Given the description of an element on the screen output the (x, y) to click on. 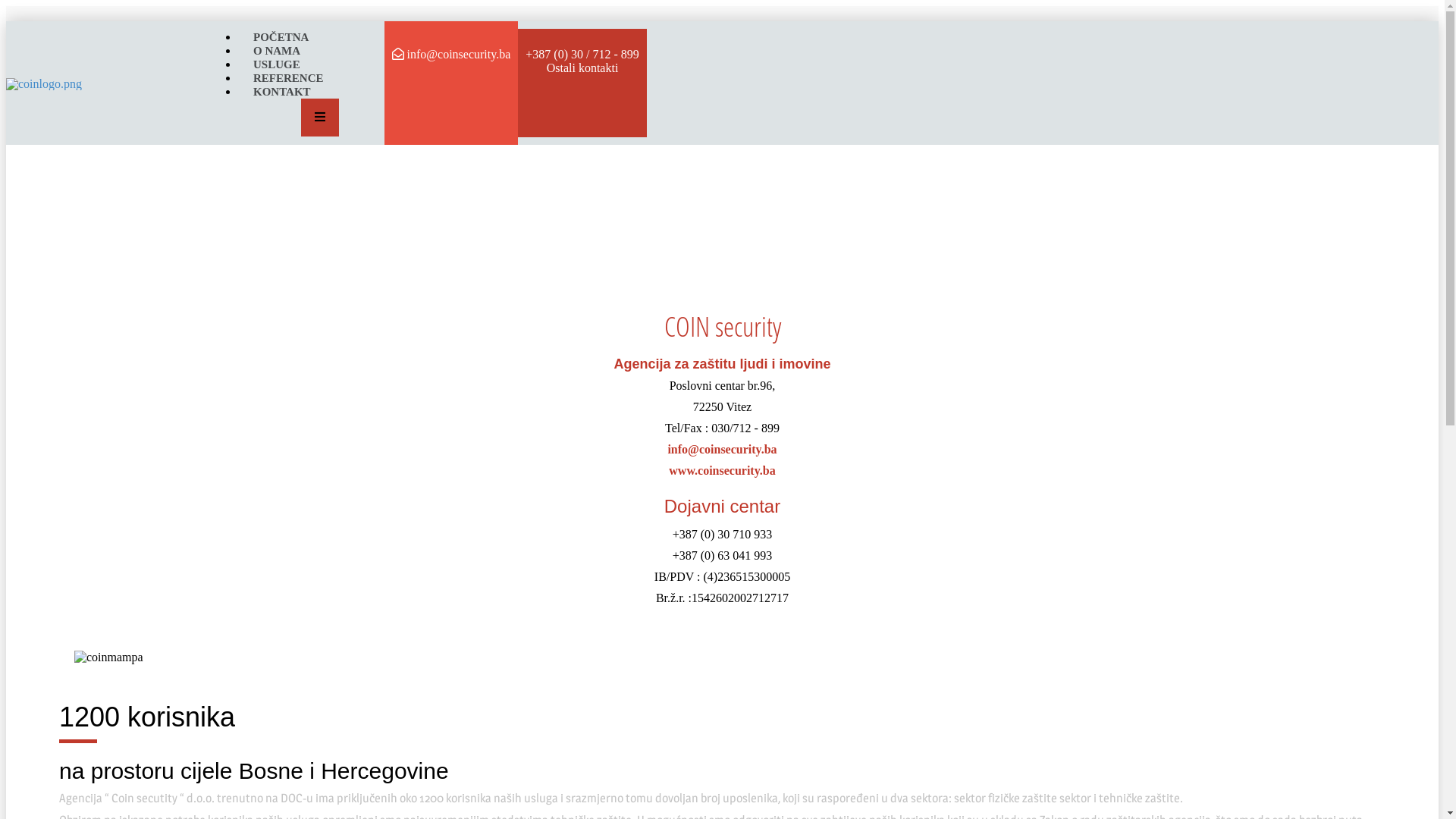
O NAMA Element type: text (276, 49)
REFERENCE Element type: text (288, 77)
USLUGE Element type: text (276, 63)
KONTAKT Element type: text (282, 90)
info@coinsecurity.ba Element type: text (721, 448)
Ostali kontakti Element type: text (582, 67)
www.coinsecurity.ba Element type: text (721, 470)
